Given the description of an element on the screen output the (x, y) to click on. 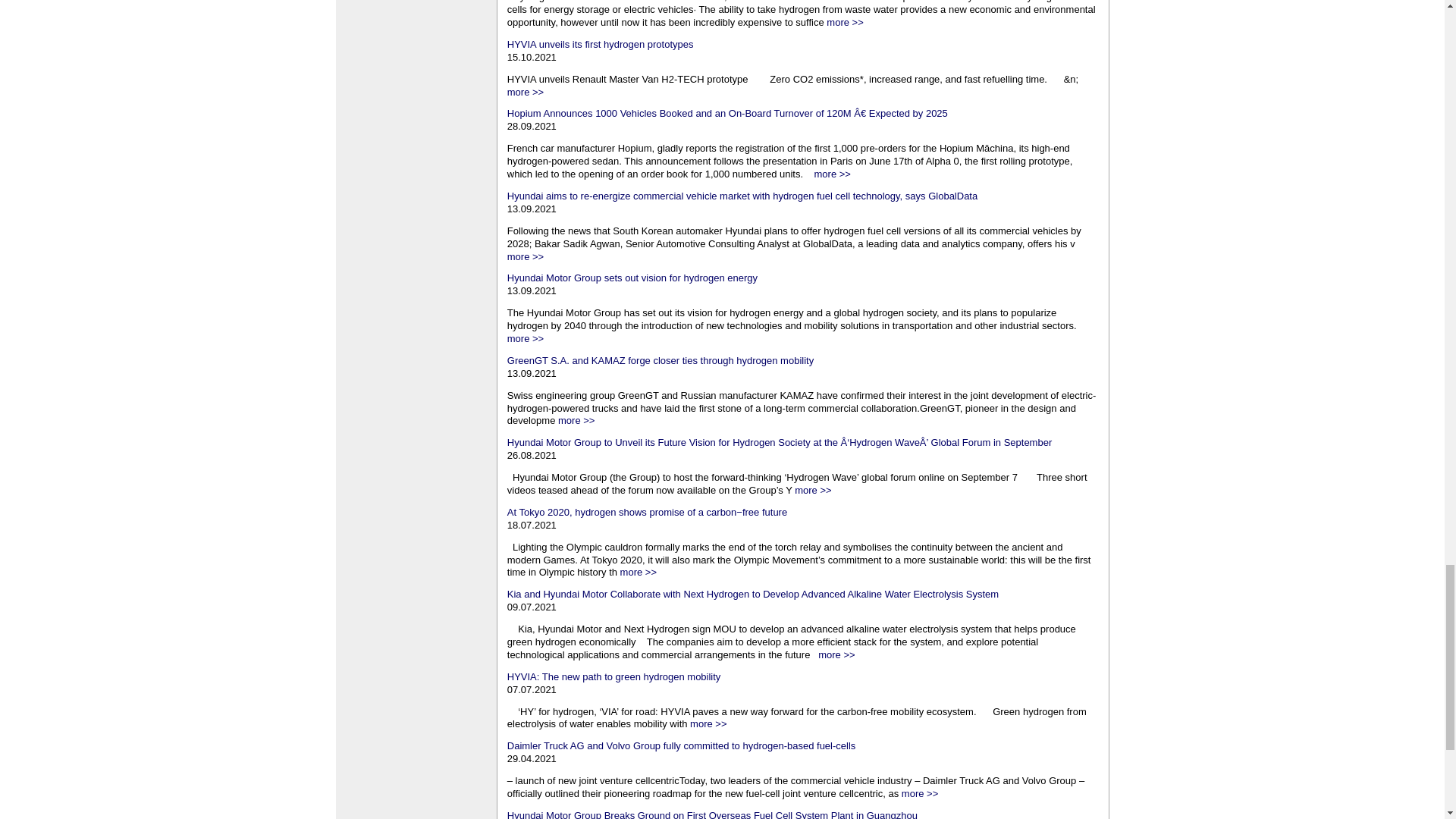
Hyundai Motor Group sets out vision for hydrogen energy (631, 277)
HYVIA unveils its first hydrogen prototypes (600, 43)
